Given the description of an element on the screen output the (x, y) to click on. 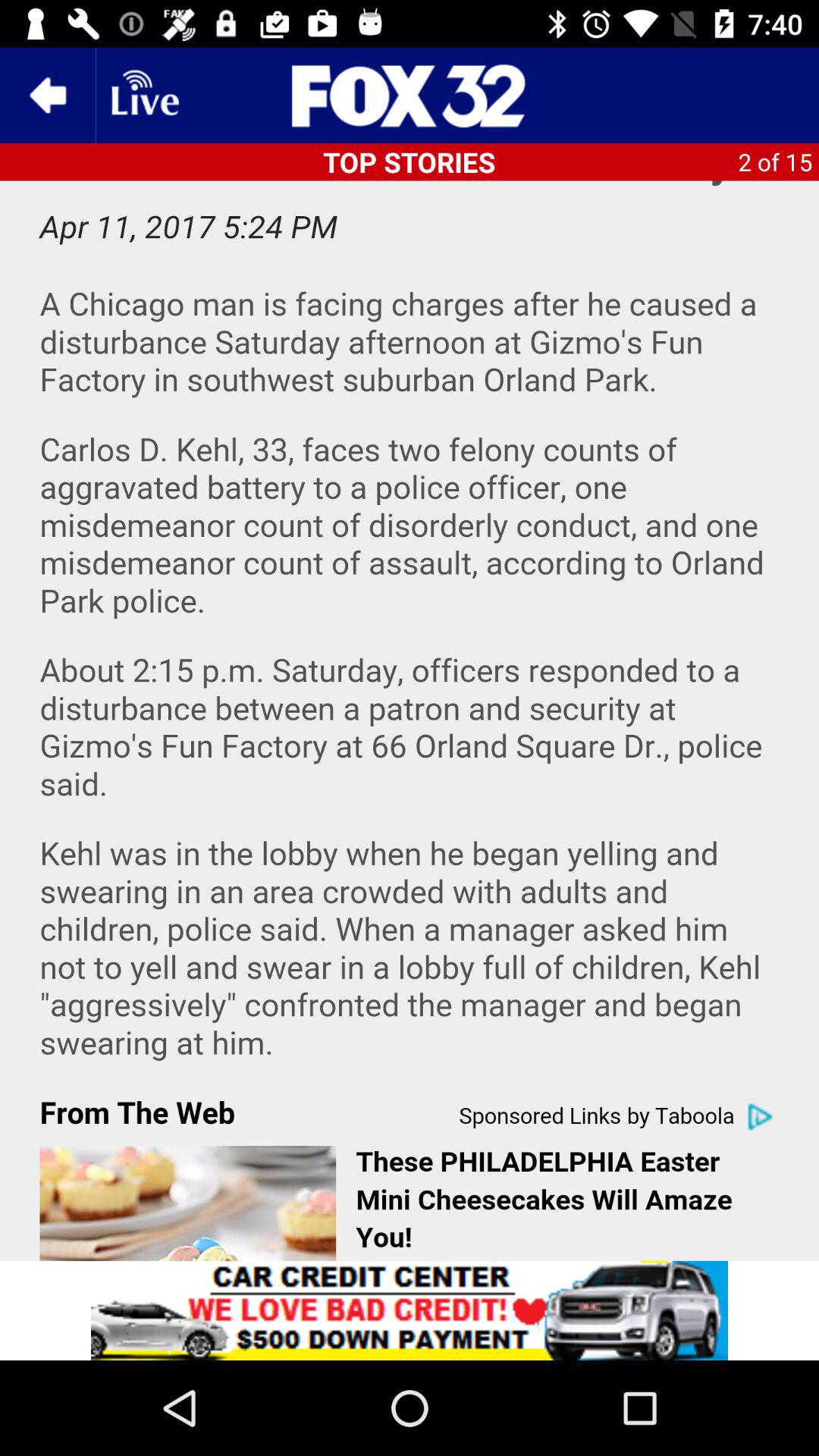
sponsored link (409, 720)
